Given the description of an element on the screen output the (x, y) to click on. 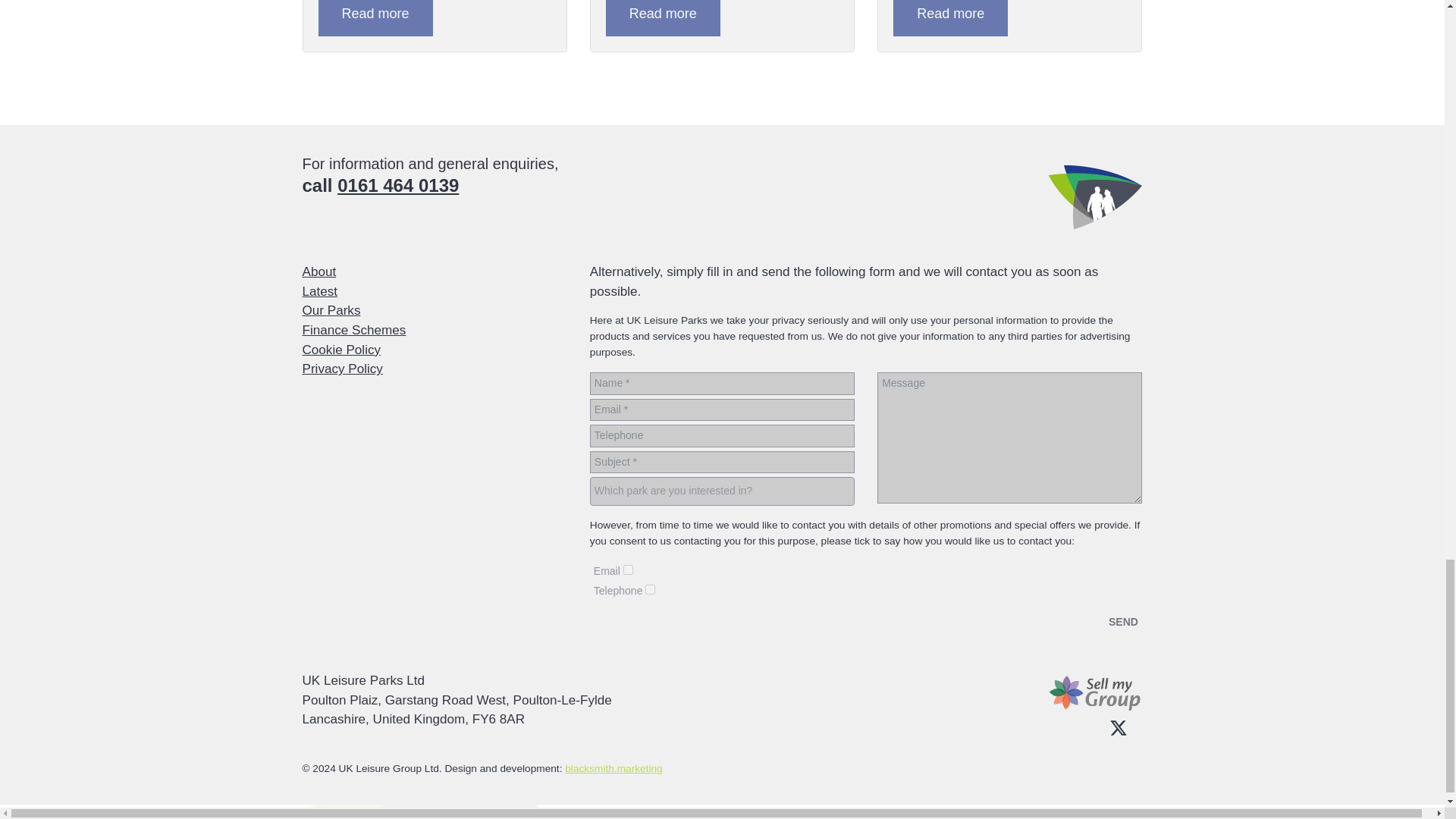
Telephone (650, 589)
Email (628, 569)
SEND (1122, 622)
